Given the description of an element on the screen output the (x, y) to click on. 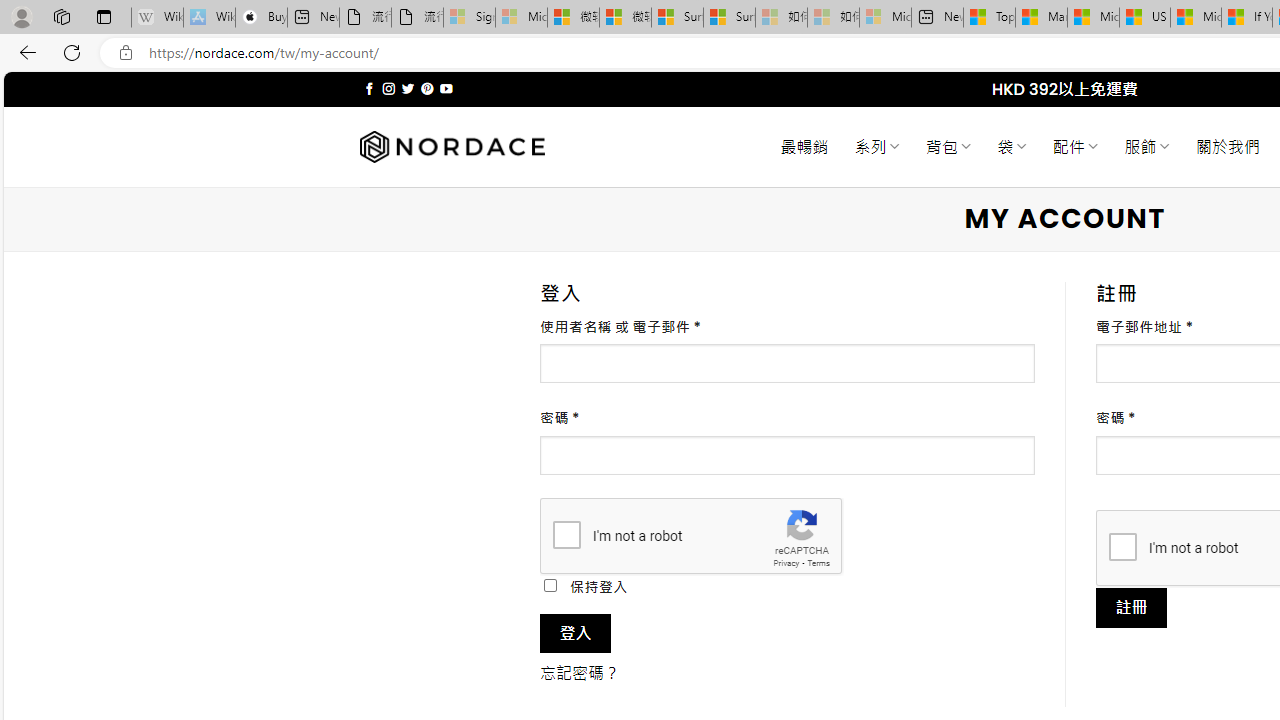
Buy iPad - Apple (260, 17)
Follow on Instagram (388, 88)
US Heat Deaths Soared To Record High Last Year (1144, 17)
Follow on YouTube (446, 88)
